Given the description of an element on the screen output the (x, y) to click on. 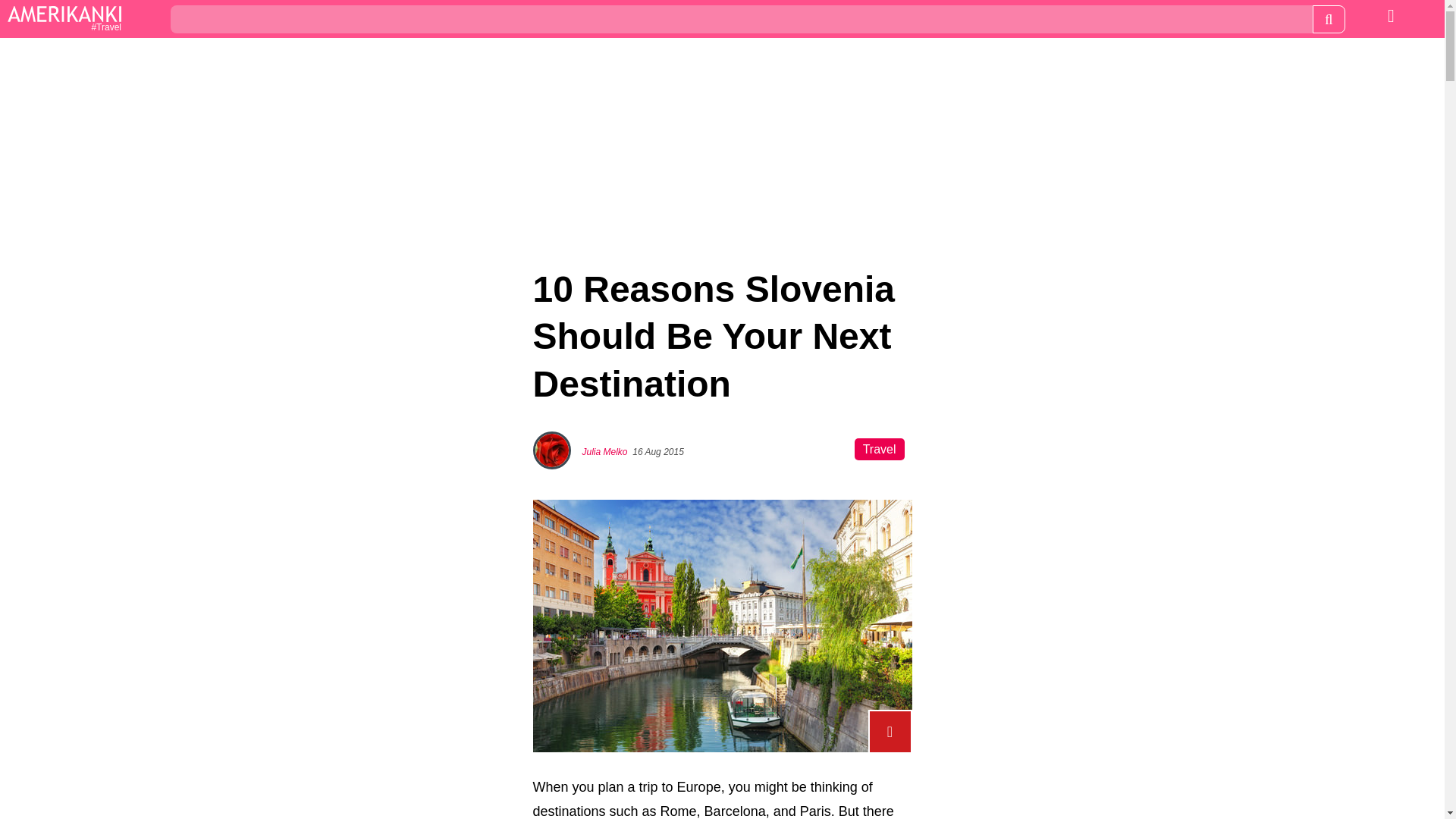
Julia Melko (604, 451)
Travel (63, 19)
Travel (879, 449)
Travel Amerikanki (63, 19)
